Given the description of an element on the screen output the (x, y) to click on. 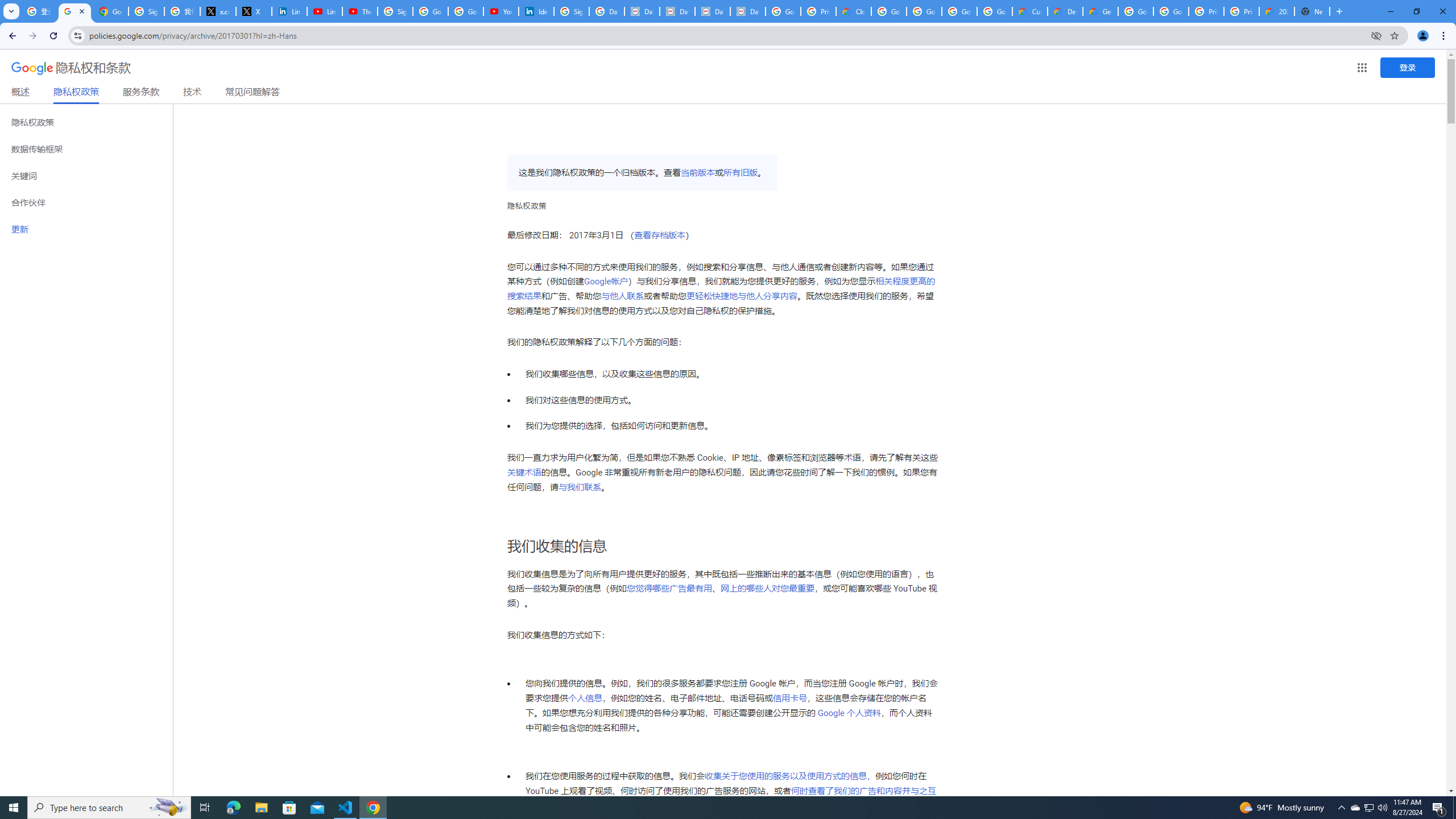
Google Cloud Platform (1170, 11)
Data Privacy Framework (712, 11)
Data Privacy Framework (641, 11)
Google Workspace - Specific Terms (994, 11)
Data Privacy Framework (677, 11)
